Given the description of an element on the screen output the (x, y) to click on. 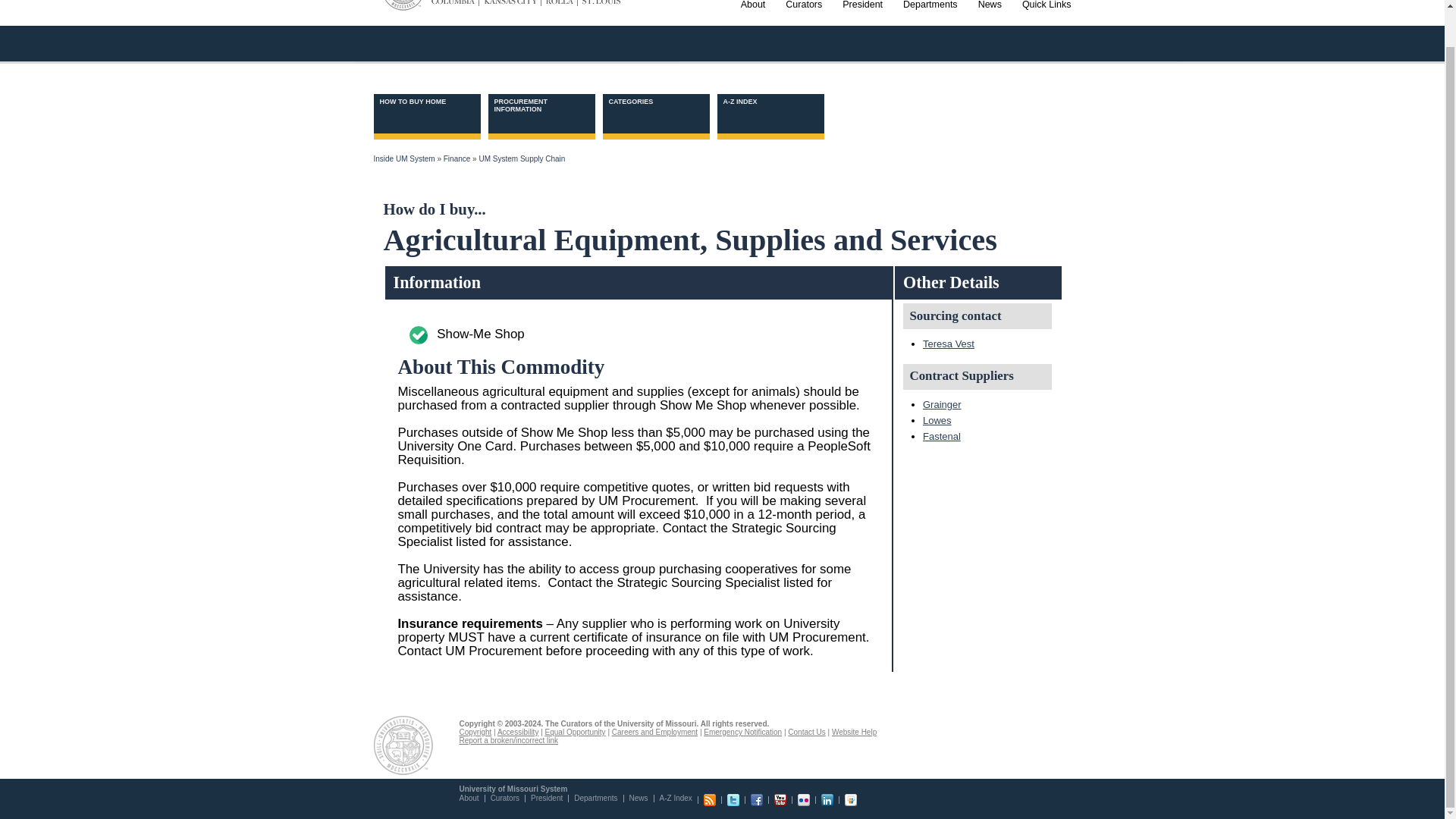
UM System Flickr Photostream (803, 799)
RSS (709, 799)
SlideShare site (850, 799)
News (990, 20)
UM System YouTube channel (780, 799)
LinkedIn page (826, 799)
Quick Links (1046, 20)
UM System (403, 5)
Follow umsystem on Twitter (732, 799)
About (753, 20)
Curators (803, 20)
Rolla (558, 2)
President (861, 20)
St. Louis (599, 2)
Departments (930, 20)
